Given the description of an element on the screen output the (x, y) to click on. 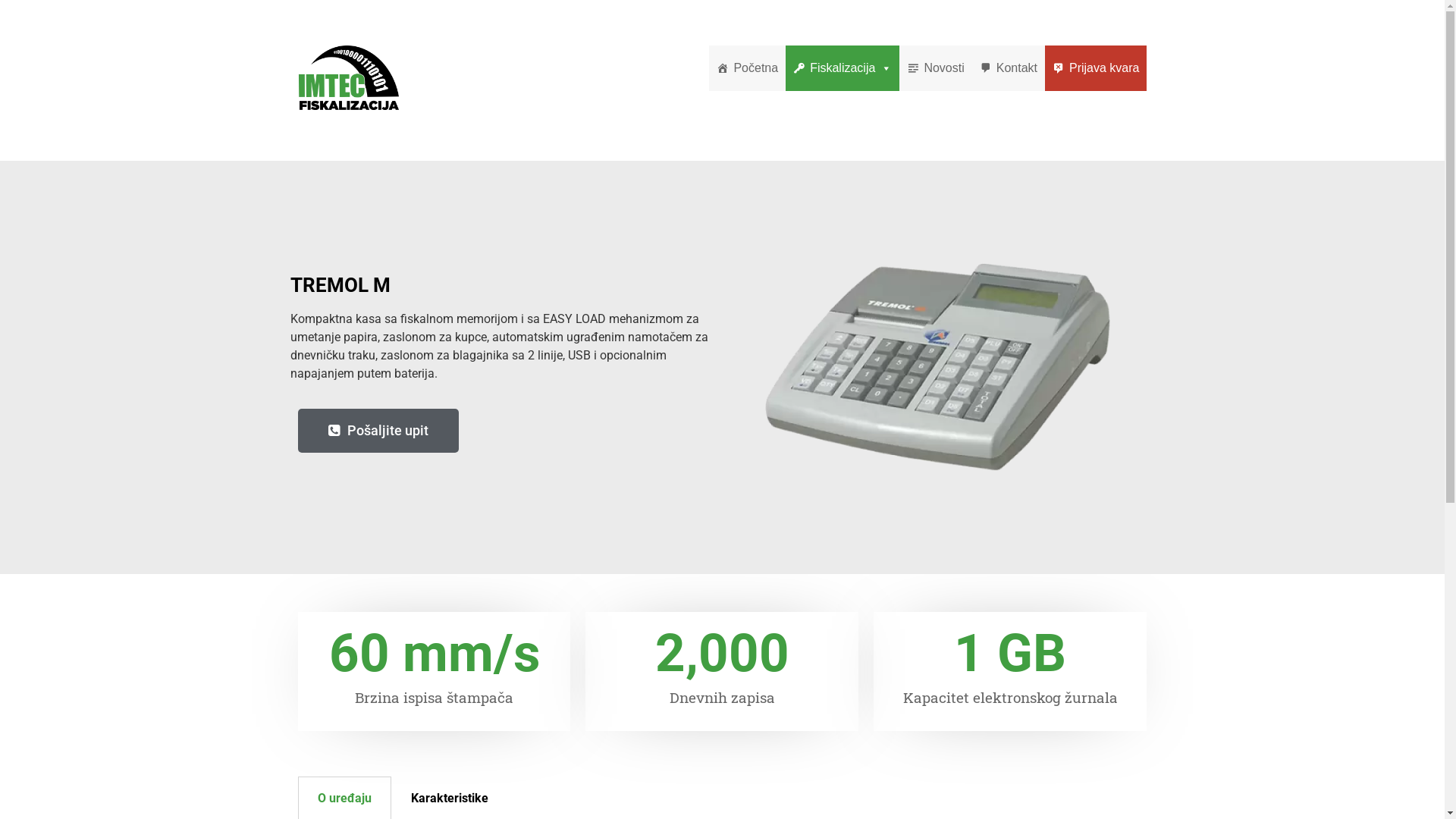
Prijava kvara Element type: text (1095, 68)
Novosti Element type: text (935, 68)
Fiskalizacija Element type: text (842, 68)
Karakteristike Element type: text (449, 797)
Kontakt Element type: text (1008, 68)
